Given the description of an element on the screen output the (x, y) to click on. 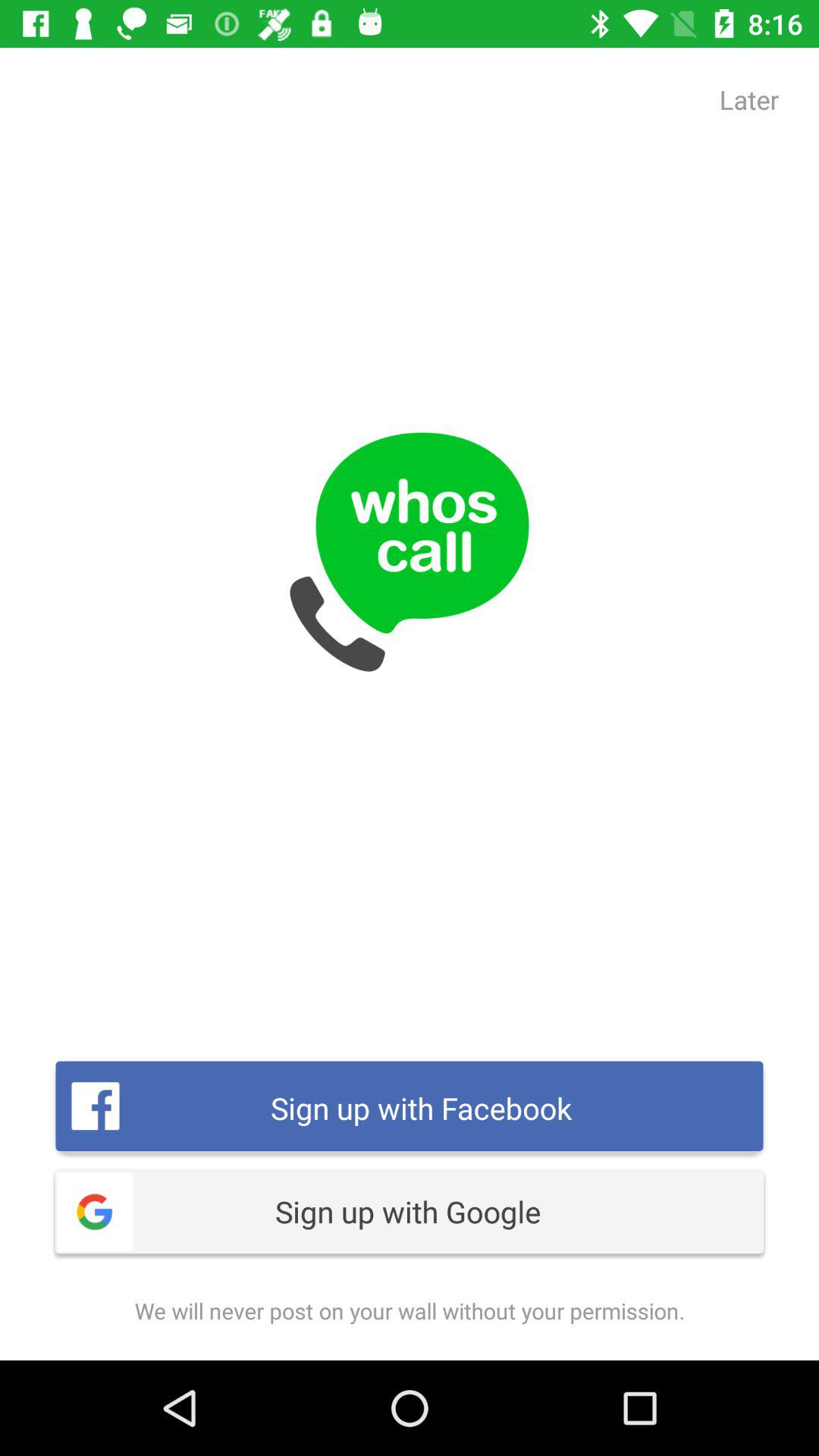
turn off later app (749, 99)
